Given the description of an element on the screen output the (x, y) to click on. 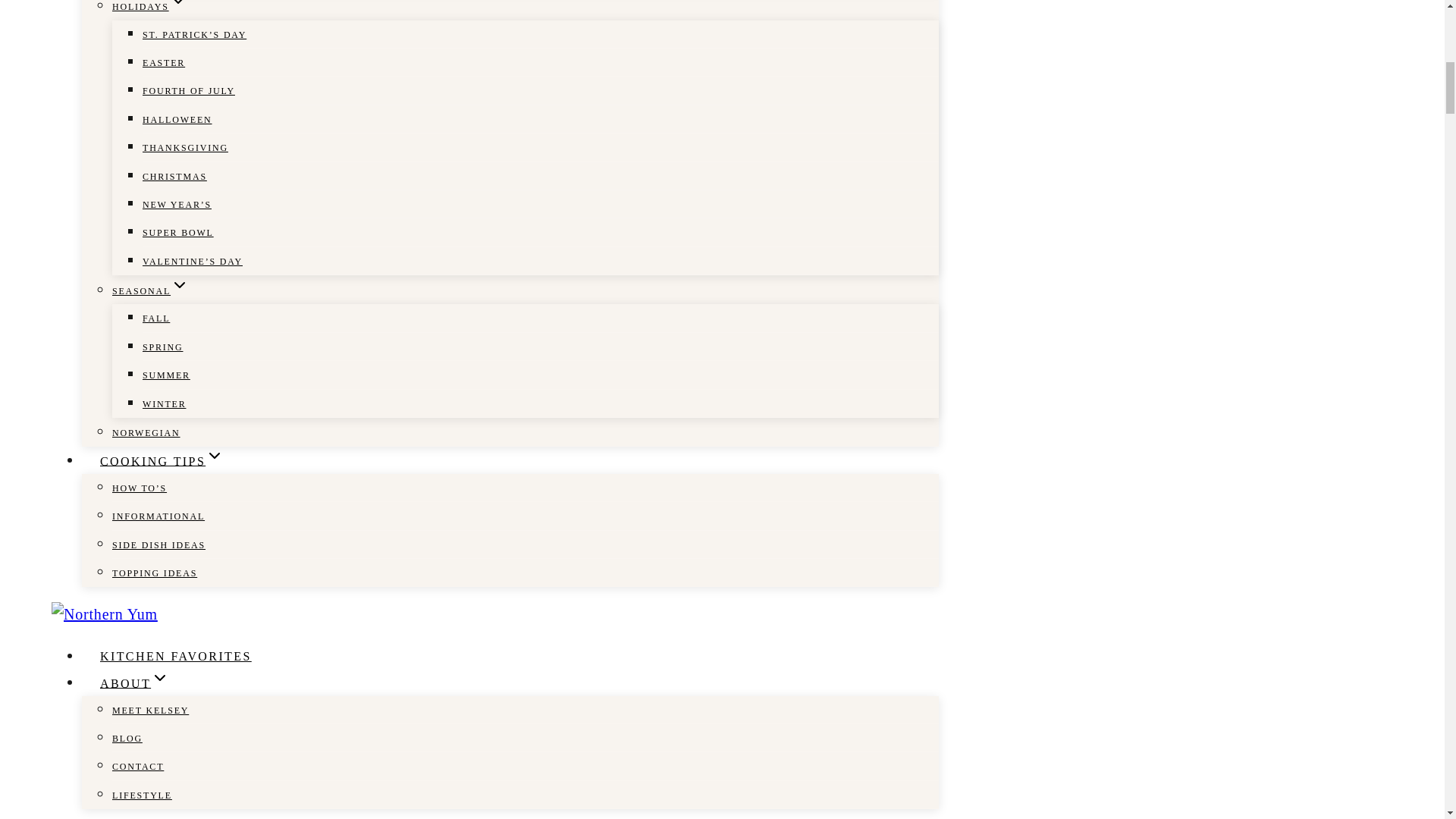
EXPAND (177, 4)
CHRISTMAS (174, 176)
EASTER (163, 62)
SUPER BOWL (178, 232)
EXPAND (214, 455)
FOURTH OF JULY (188, 90)
HALLOWEEN (177, 119)
THANKSGIVING (185, 147)
EXPAND (179, 285)
SEASONALEXPAND (150, 290)
HOLIDAYSEXPAND (149, 10)
EXPAND (159, 678)
